Given the description of an element on the screen output the (x, y) to click on. 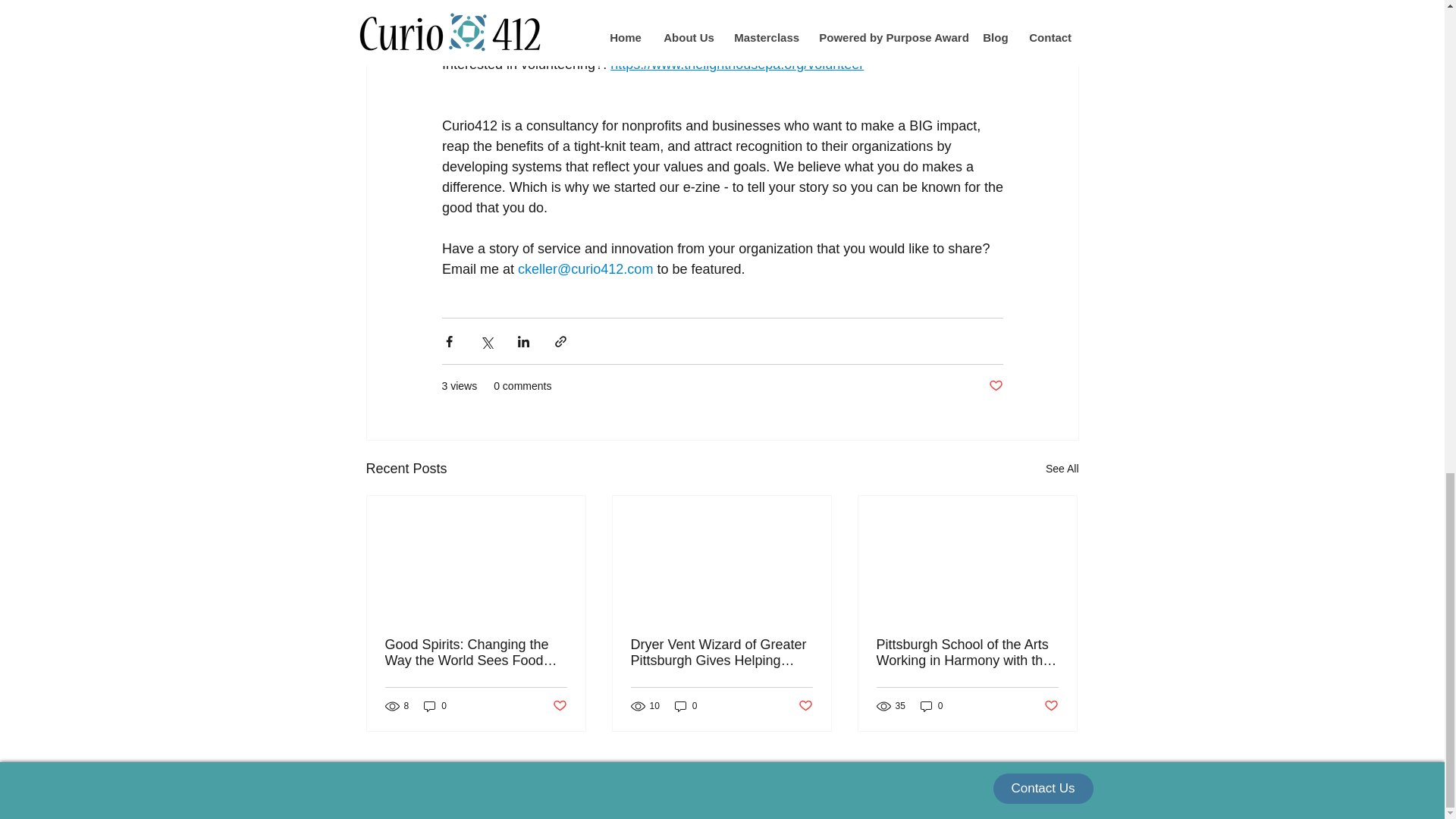
Contact Us (1042, 788)
Post not marked as liked (995, 385)
See All (1061, 468)
0 (931, 706)
0 (435, 706)
Post not marked as liked (804, 706)
Post not marked as liked (558, 706)
0 (685, 706)
Post not marked as liked (1050, 706)
